Given the description of an element on the screen output the (x, y) to click on. 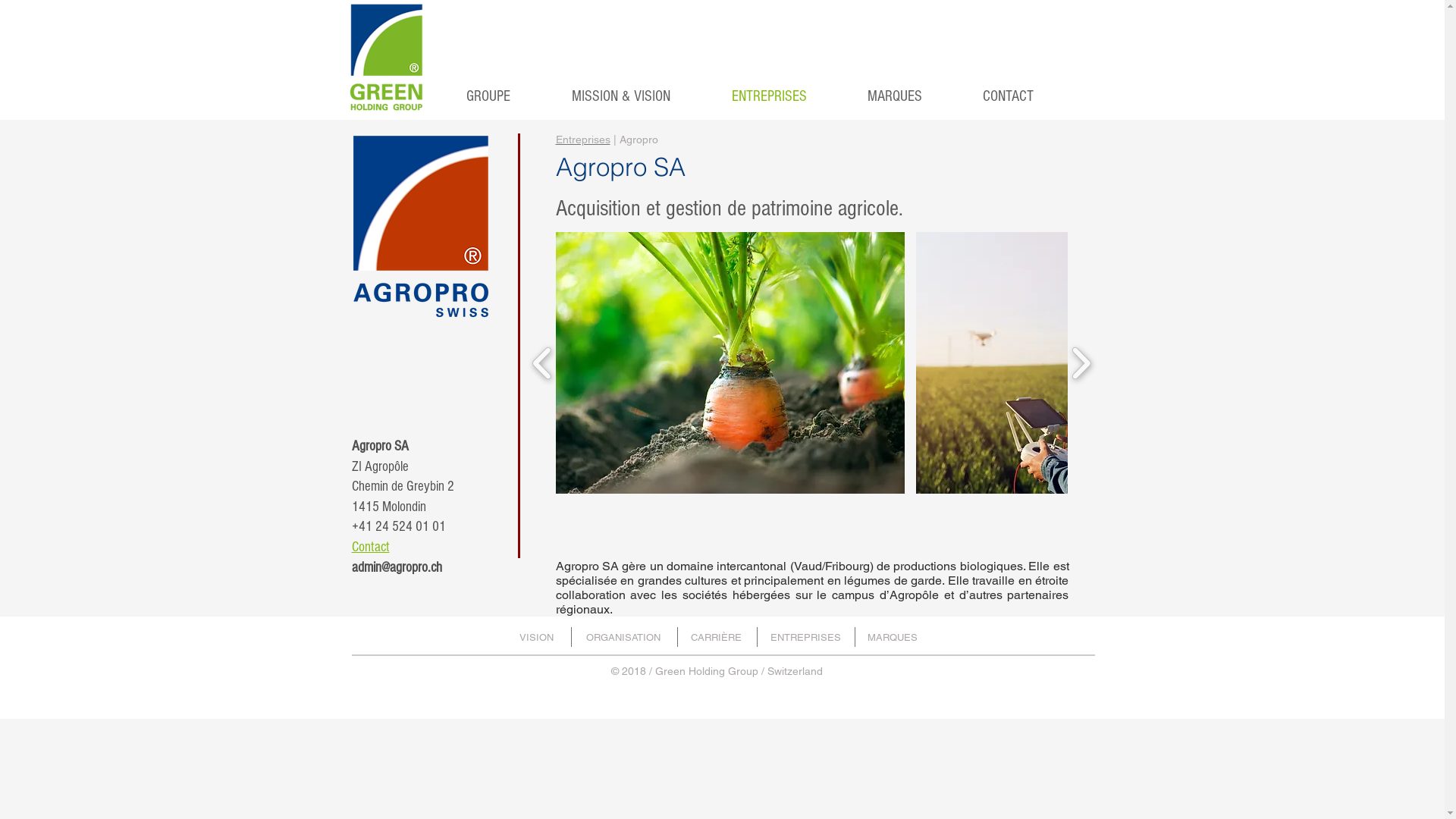
CONTACT Element type: text (988, 95)
Contact Element type: text (370, 547)
AGROPRO400_logo.png Element type: hover (420, 225)
MARQUES Element type: text (892, 637)
MISSION & VISION Element type: text (601, 95)
GROUPE Element type: text (467, 95)
ORGANISATION Element type: text (622, 637)
VISION Element type: text (539, 637)
Entreprises Element type: text (582, 139)
ENTREPRISES Element type: text (748, 95)
ENTREPRISES Element type: text (804, 637)
GHGroup_110.png Element type: hover (386, 56)
admin@agropro.ch Element type: text (396, 567)
MARQUES Element type: text (874, 95)
